Given the description of an element on the screen output the (x, y) to click on. 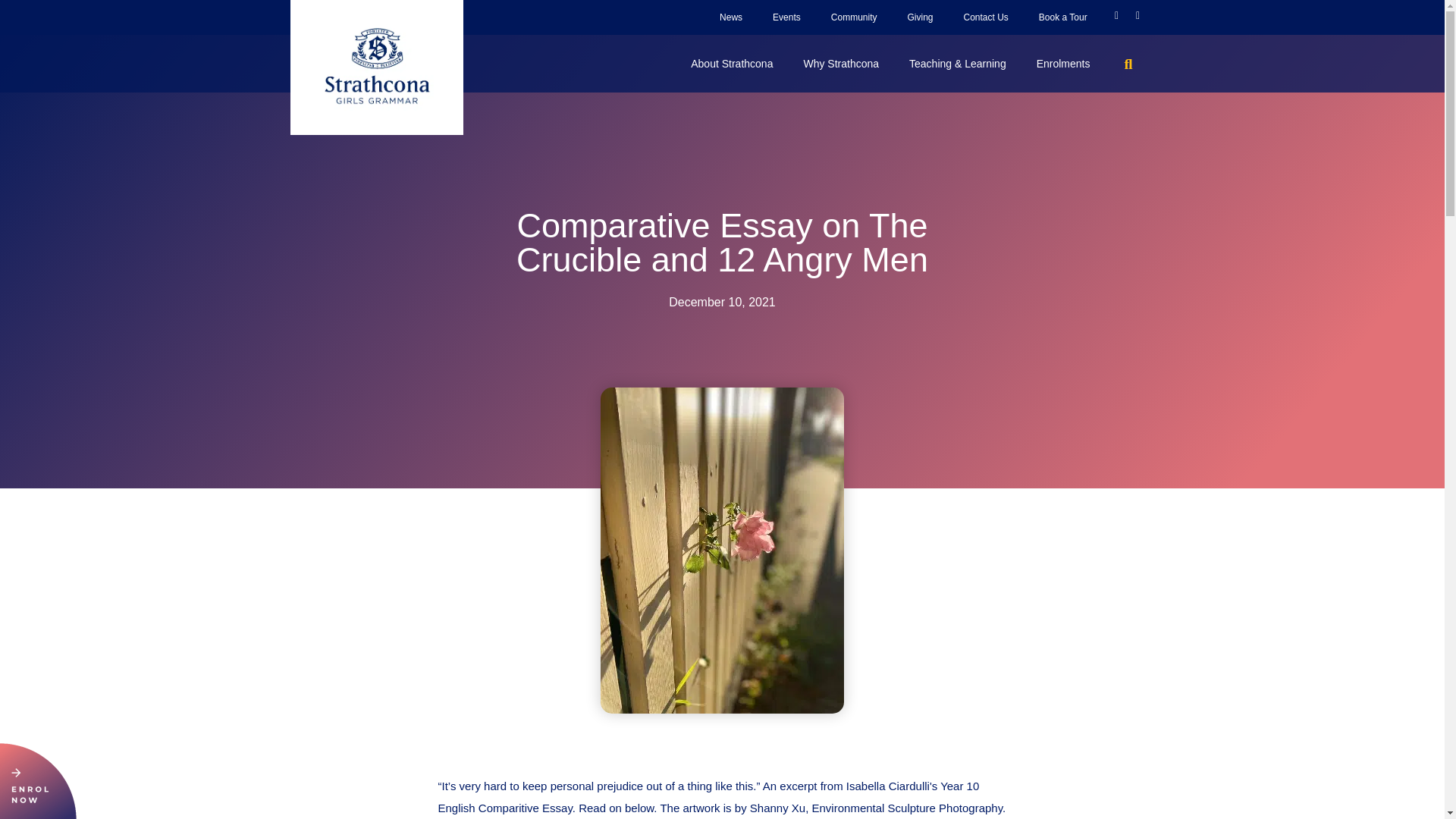
enrolnowbutton (38, 780)
